Given the description of an element on the screen output the (x, y) to click on. 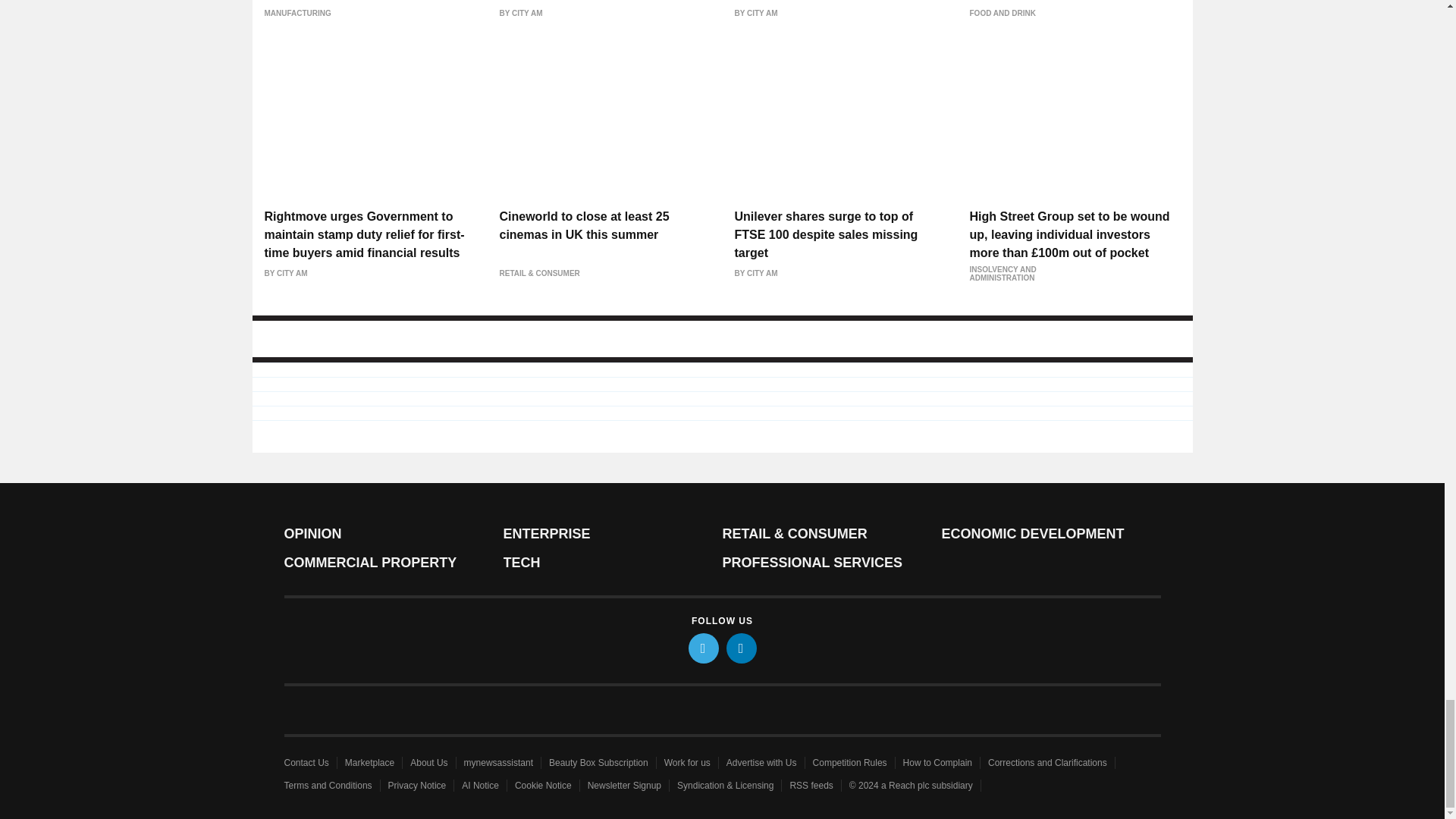
linkedin (741, 648)
twitter (703, 648)
